Given the description of an element on the screen output the (x, y) to click on. 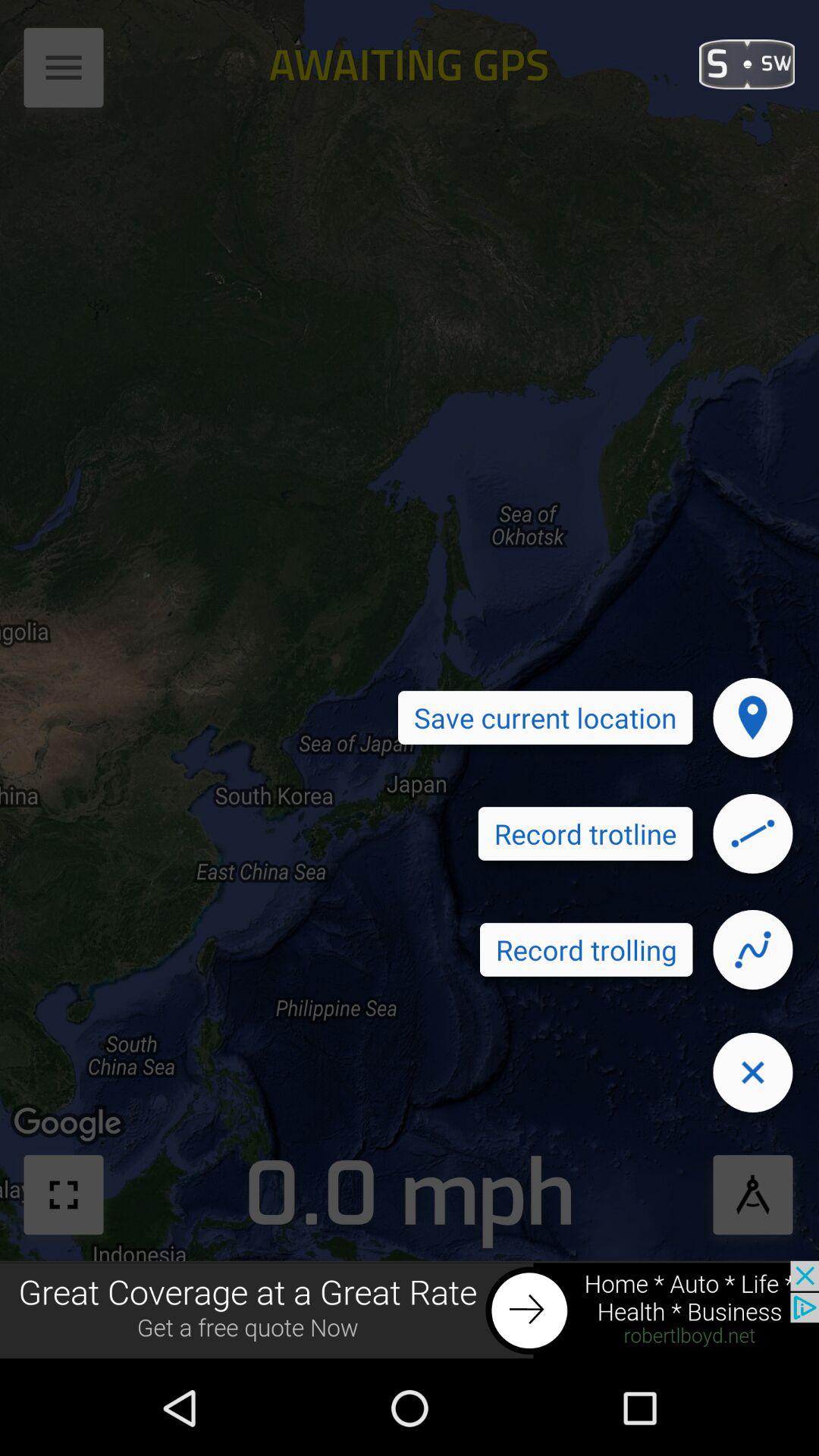
no idea (752, 833)
